Given the description of an element on the screen output the (x, y) to click on. 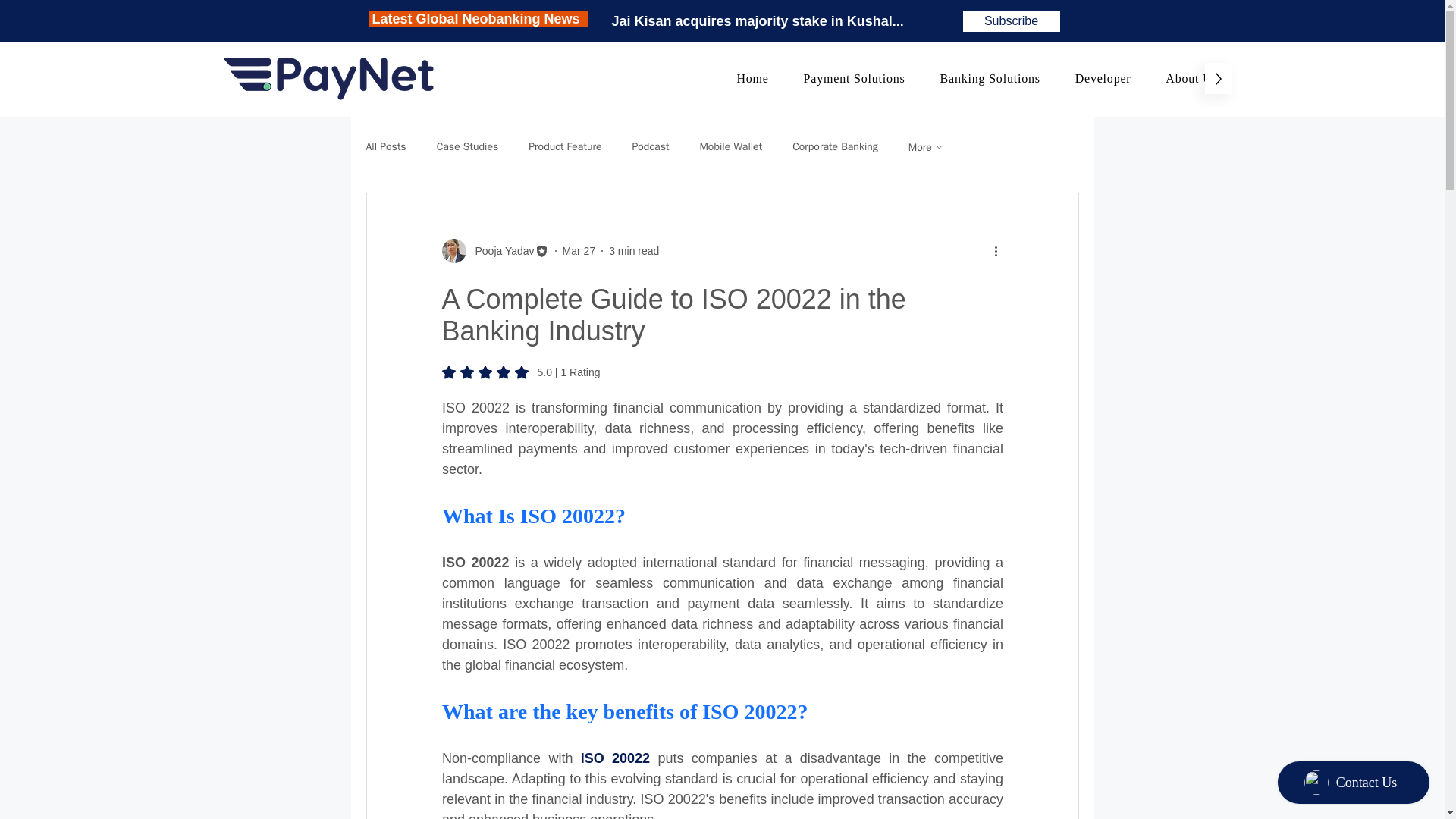
Home (752, 78)
Product Feature (564, 146)
Mobile Wallet (729, 146)
Corporate Banking (834, 146)
All Posts (385, 146)
Mar 27 (578, 250)
Subscribe (1010, 20)
3 min read (976, 78)
Podcast (633, 250)
